Given the description of an element on the screen output the (x, y) to click on. 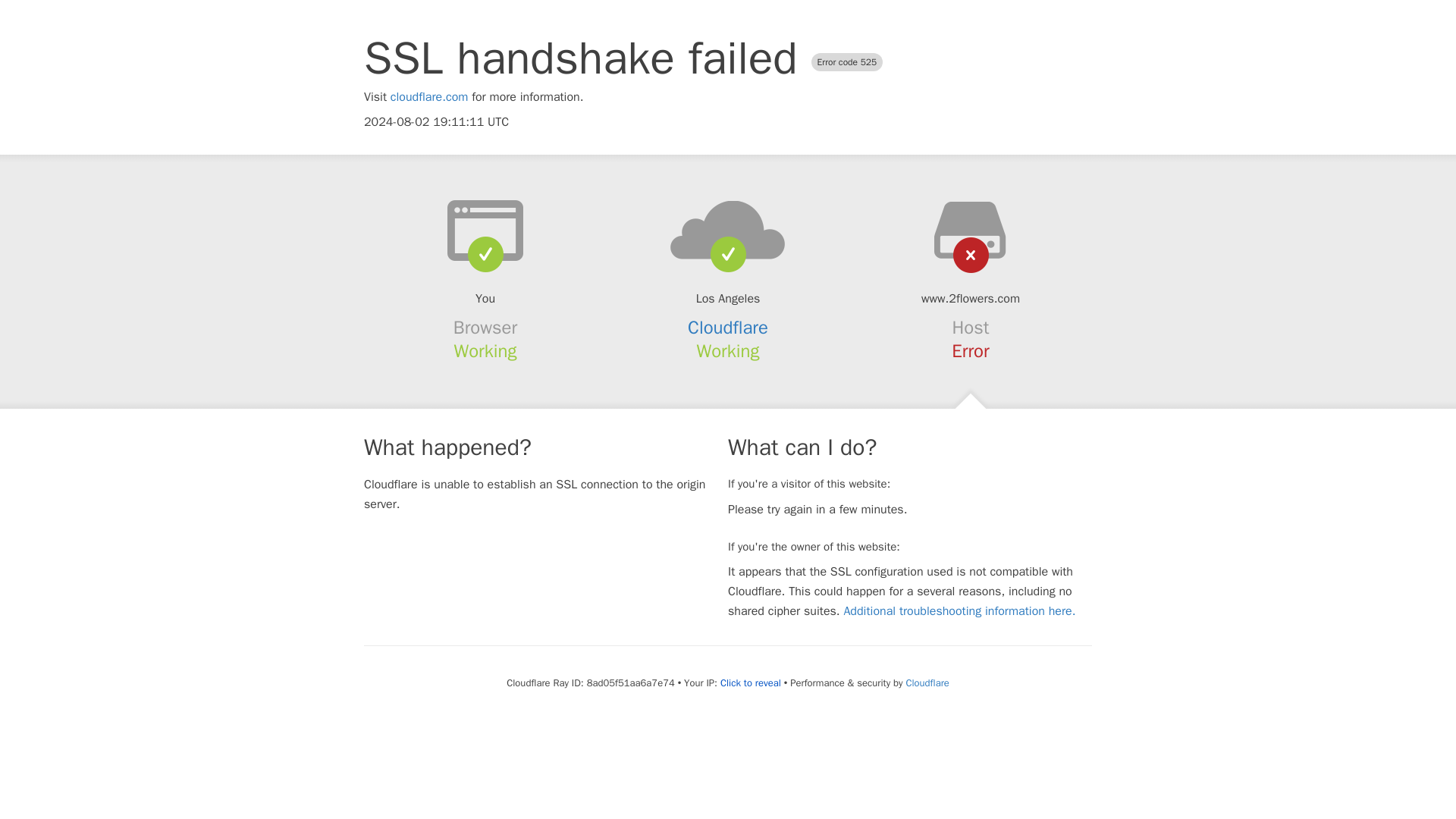
cloudflare.com (429, 96)
Cloudflare (927, 682)
Additional troubleshooting information here. (959, 611)
Click to reveal (750, 683)
Cloudflare (727, 327)
